Given the description of an element on the screen output the (x, y) to click on. 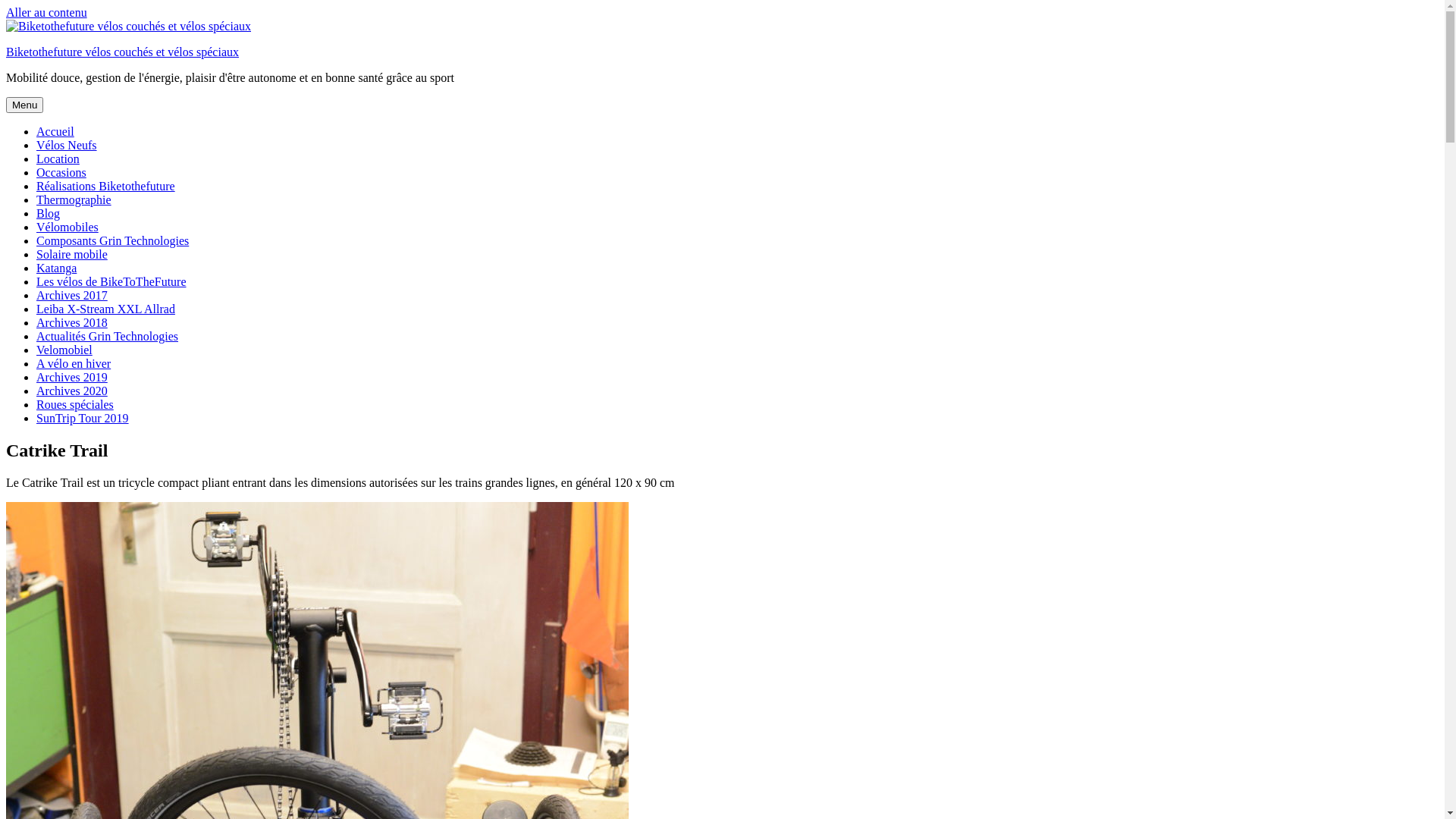
Solaire mobile Element type: text (71, 253)
Aller au contenu Element type: text (46, 12)
Accueil Element type: text (55, 131)
Thermographie Element type: text (73, 199)
Archives 2020 Element type: text (71, 390)
Occasions Element type: text (61, 172)
Archives 2019 Element type: text (71, 376)
Menu Element type: text (24, 104)
Location Element type: text (57, 158)
Velomobiel Element type: text (64, 349)
Archives 2018 Element type: text (71, 322)
Blog Element type: text (47, 213)
Leiba X-Stream XXL Allrad Element type: text (105, 308)
Composants Grin Technologies Element type: text (112, 240)
Katanga Element type: text (56, 267)
Archives 2017 Element type: text (71, 294)
SunTrip Tour 2019 Element type: text (82, 417)
